Given the description of an element on the screen output the (x, y) to click on. 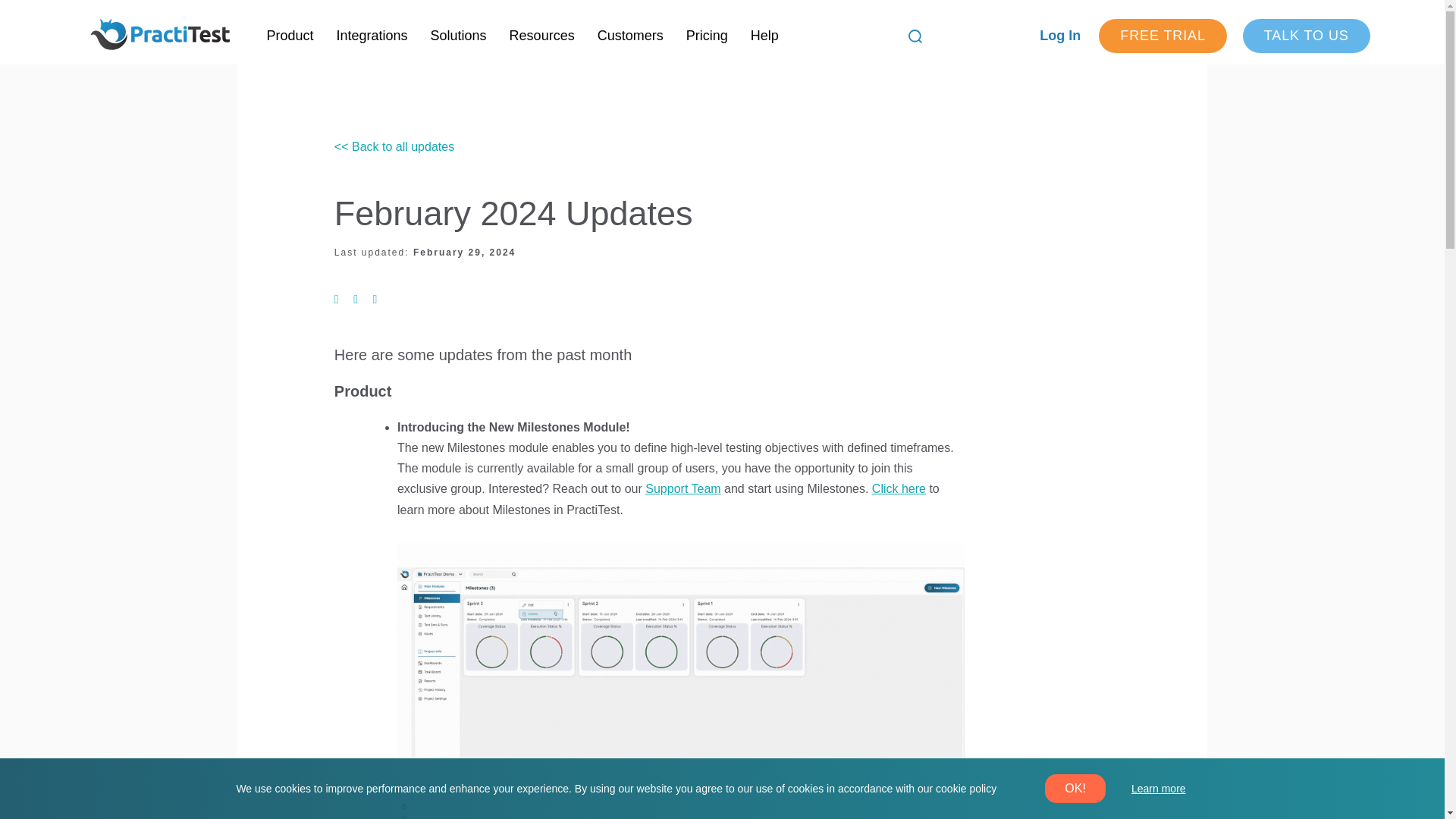
Integrations (371, 35)
Free Trial (1163, 35)
Resources (541, 35)
Solutions (458, 35)
Product (289, 35)
Demo (1306, 35)
